Given the description of an element on the screen output the (x, y) to click on. 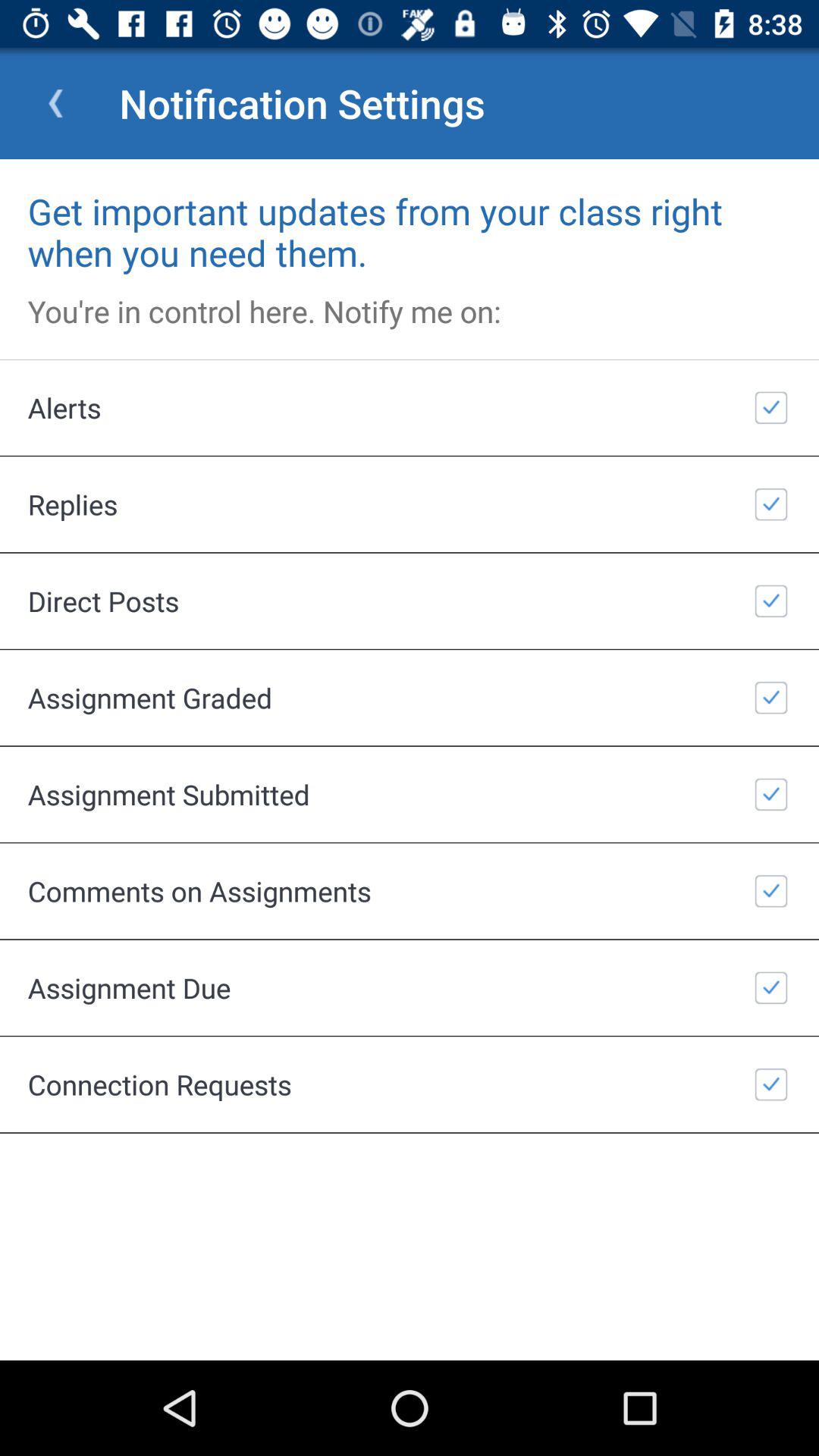
select item above the comments on assignments (409, 794)
